Given the description of an element on the screen output the (x, y) to click on. 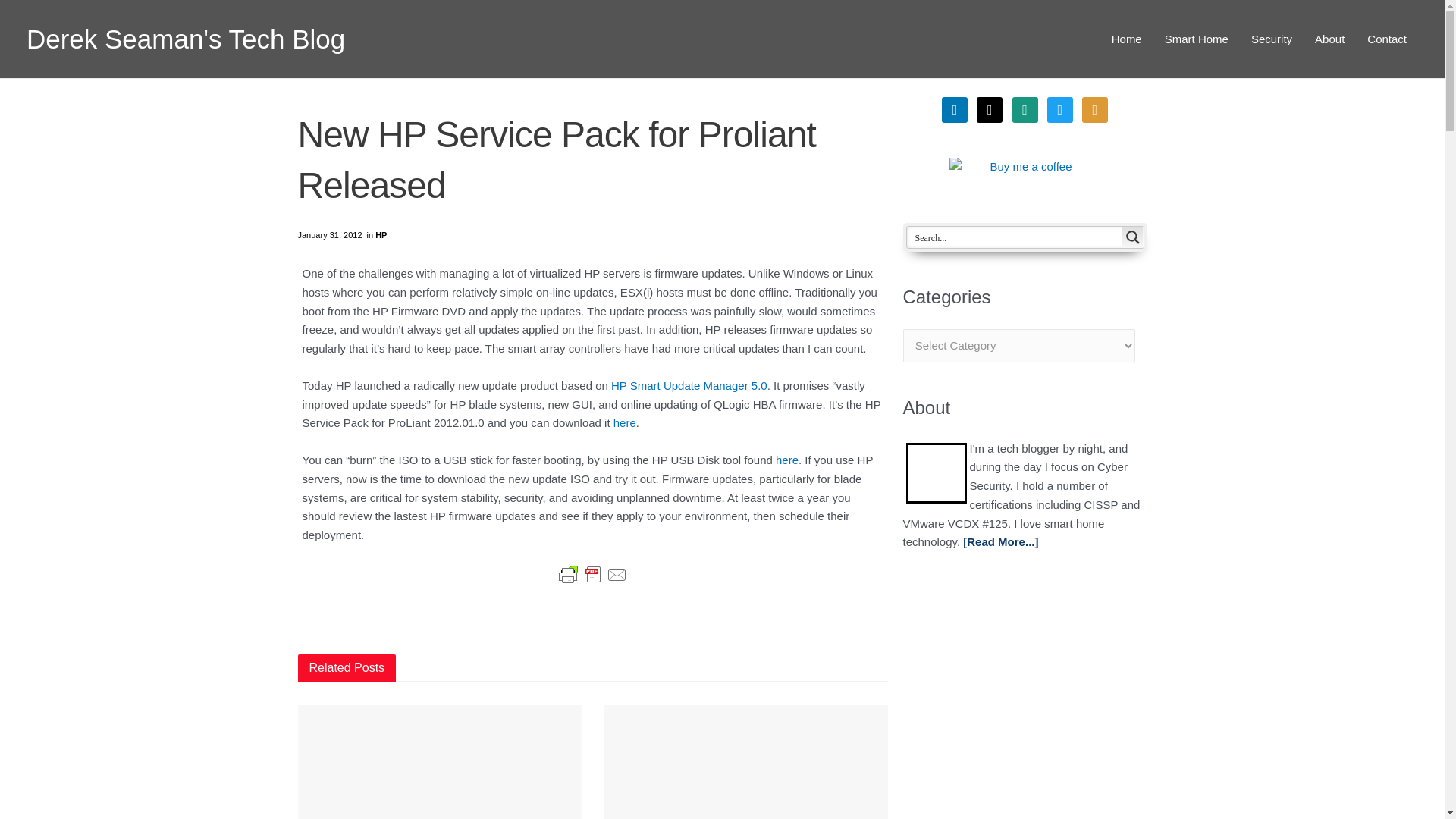
here (786, 459)
HP (381, 234)
About (1329, 39)
Home (1126, 39)
Contact (1386, 39)
Derek Seaman'S Tech Blog (185, 39)
Smart Home (1196, 39)
HP Smart Update Manager 5.0 (689, 385)
here (624, 422)
January 31, 2012 (329, 234)
